Given the description of an element on the screen output the (x, y) to click on. 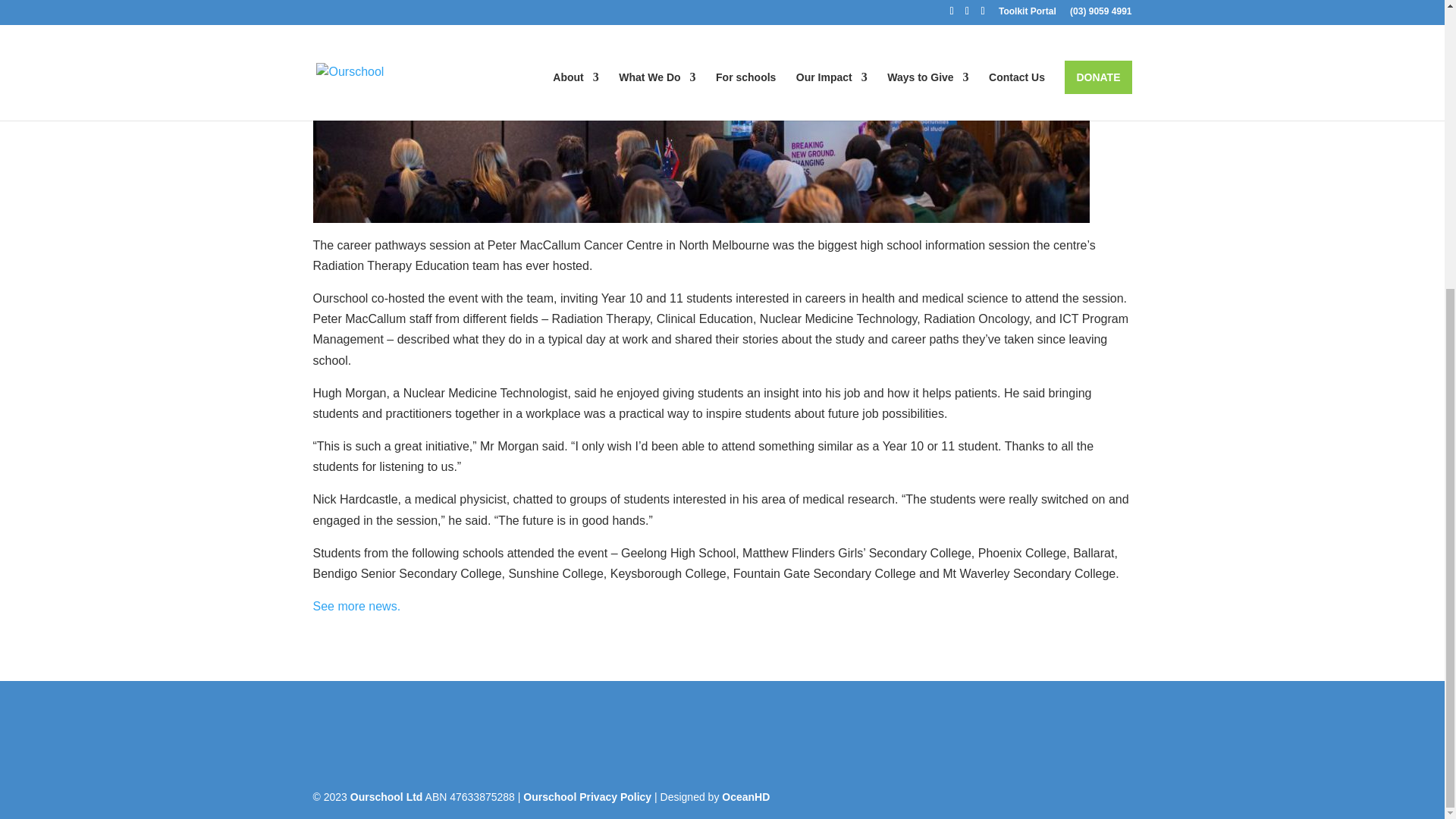
See more news. (356, 605)
Ourschool Ltd (386, 797)
Ourschool Privacy Policy (586, 797)
